Given the description of an element on the screen output the (x, y) to click on. 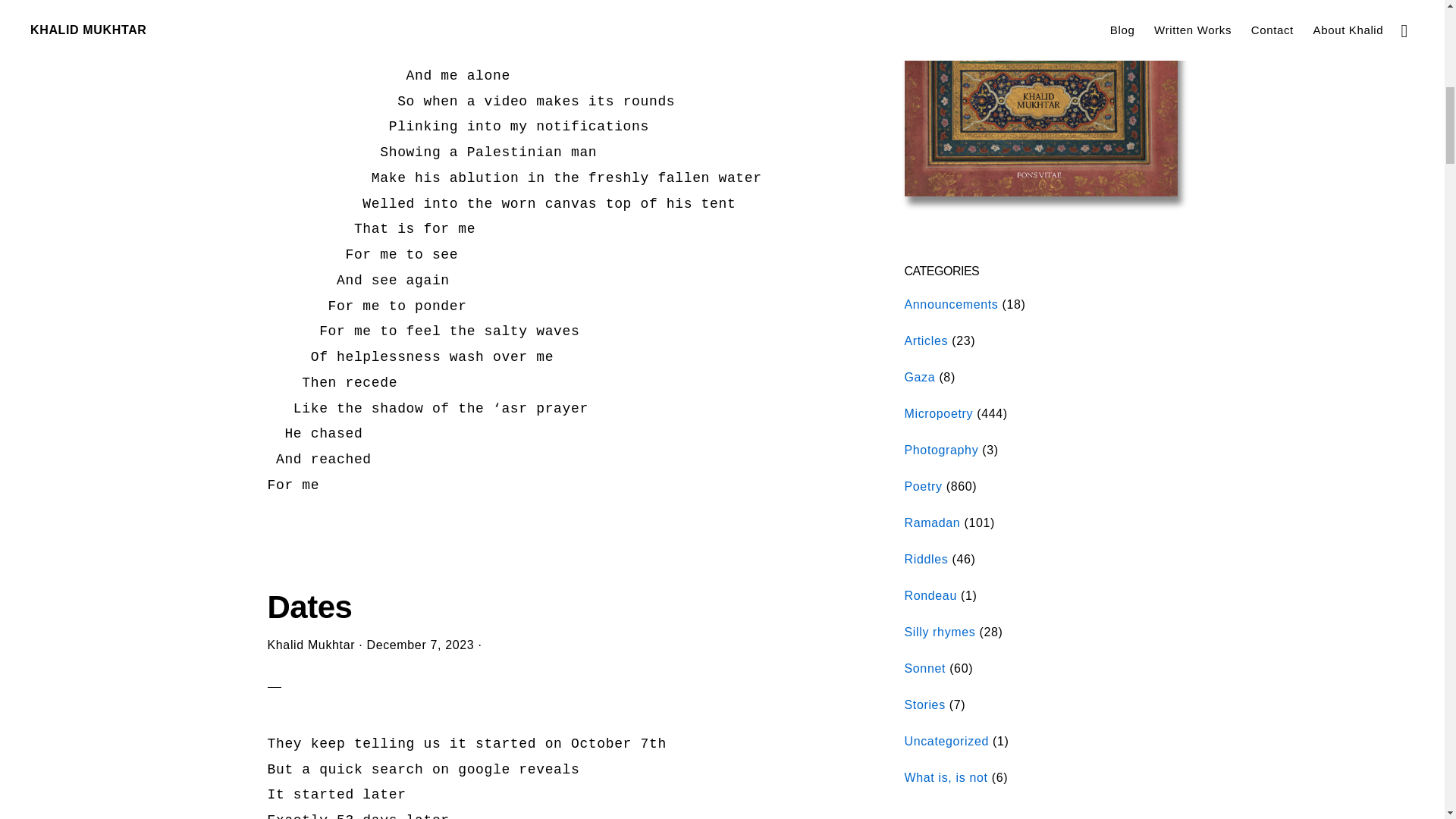
In the Warmth of the Shade - Buy Now (1040, 192)
Khalid Mukhtar (310, 644)
Dates (309, 606)
